Given the description of an element on the screen output the (x, y) to click on. 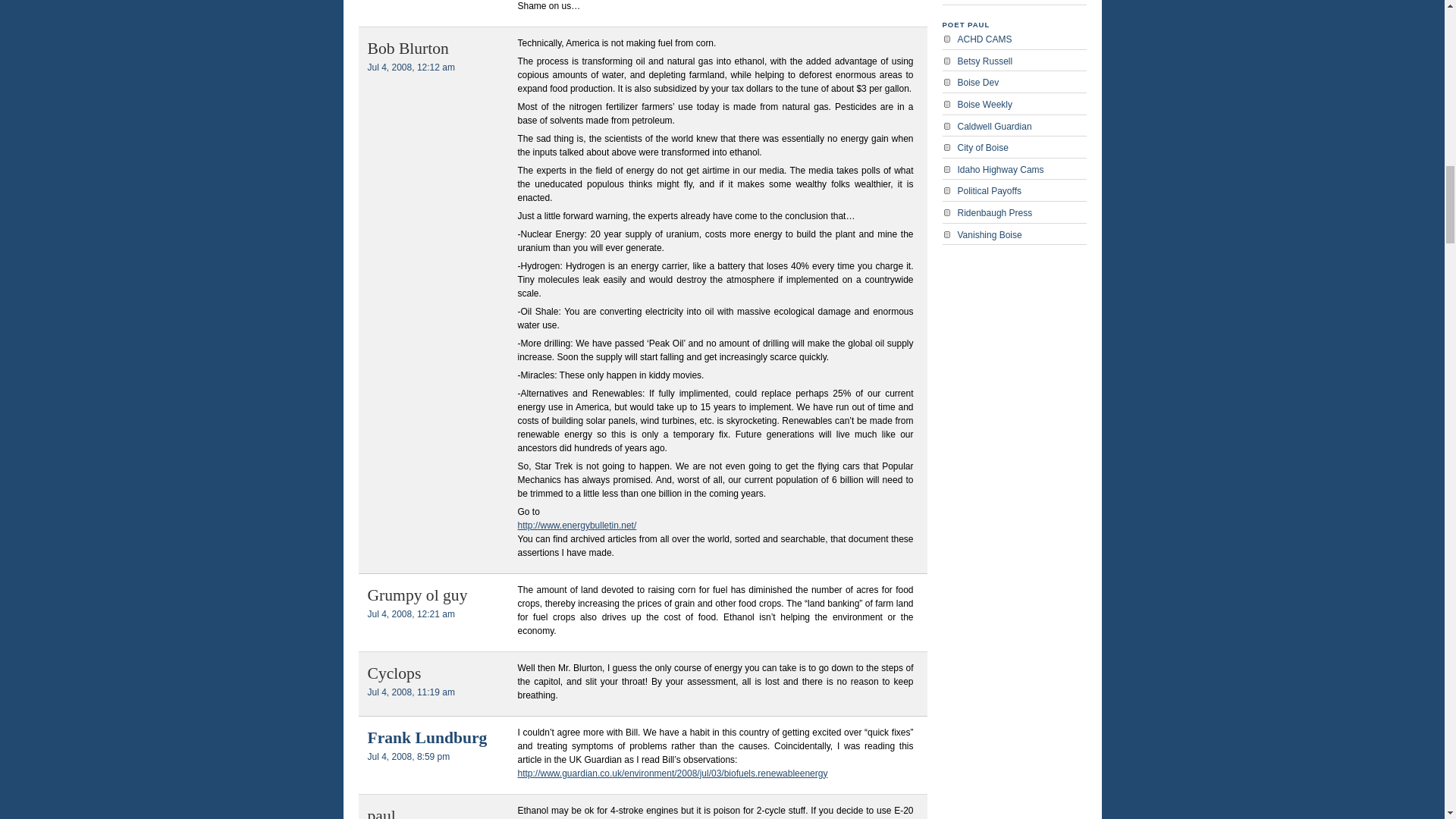
Frank Lundburg (426, 737)
Jul 4, 2008, 12:21 am (410, 614)
Jul 4, 2008, 12:12 am (410, 67)
Jul 4, 2008, 11:19 am (410, 692)
Jul 4, 2008, 8:59 pm (407, 756)
